Given the description of an element on the screen output the (x, y) to click on. 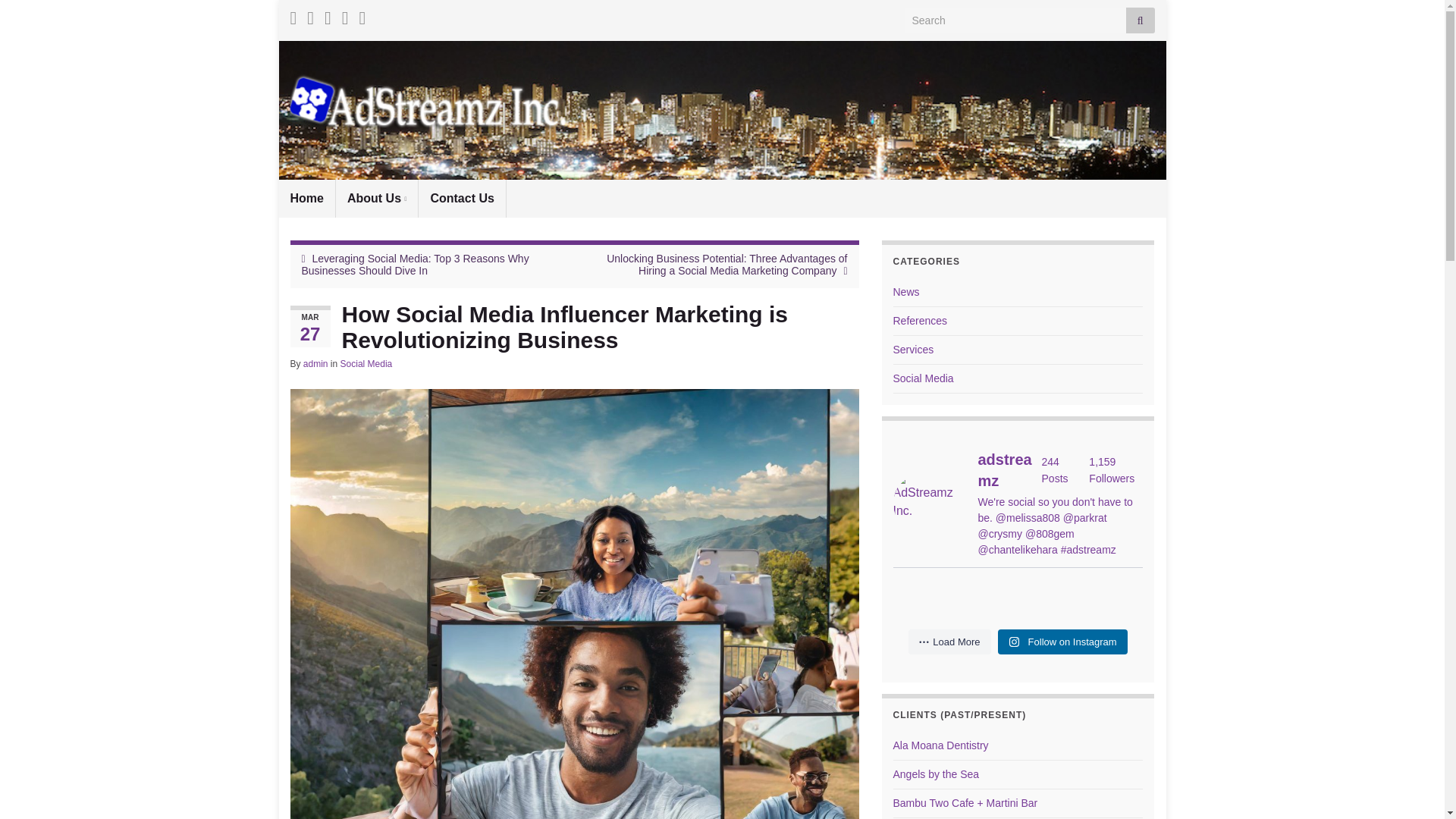
Services (913, 349)
Home (306, 198)
References (920, 320)
Social Media (923, 378)
About Us (376, 198)
Social Media (366, 363)
News (906, 291)
ADZ-Website-Banner-3.jpg (722, 109)
admin (315, 363)
